Given the description of an element on the screen output the (x, y) to click on. 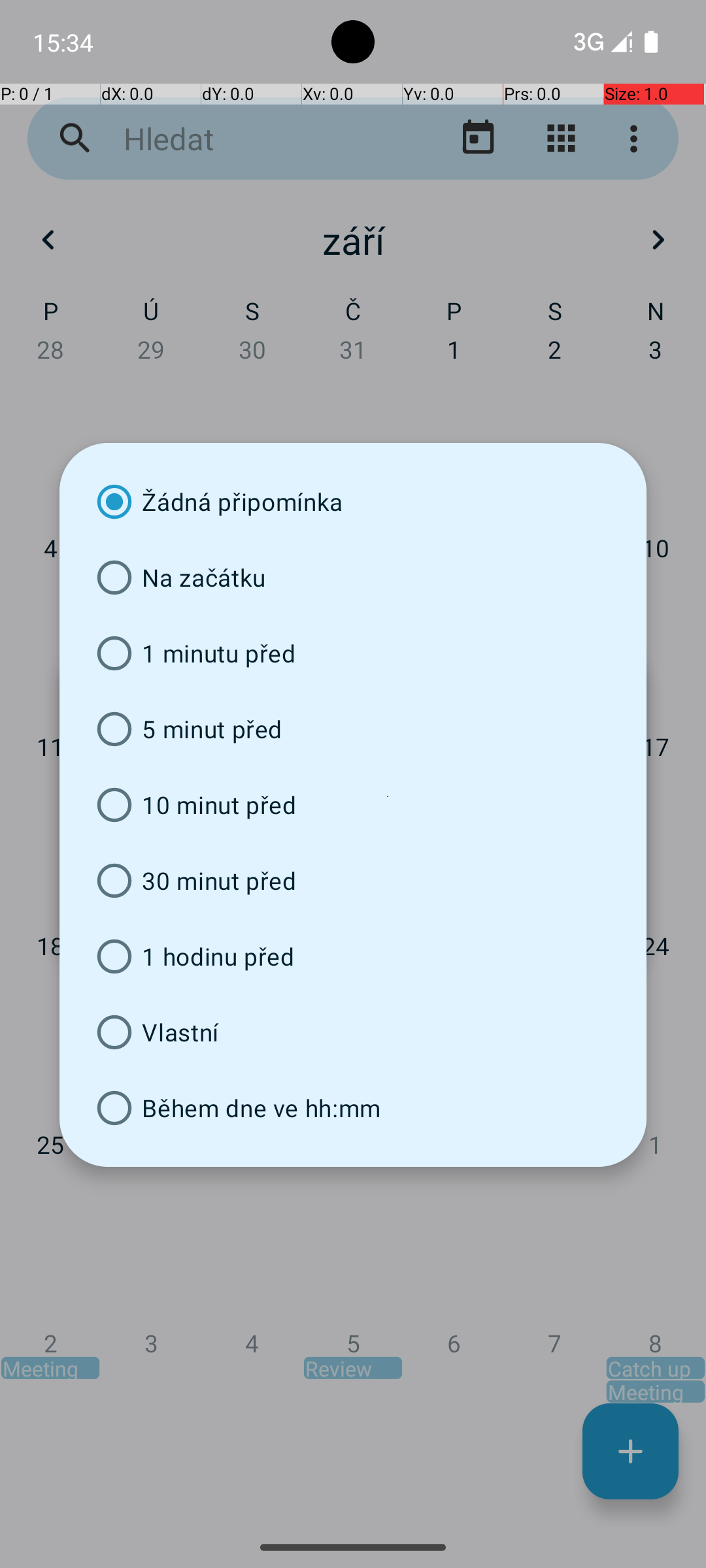
Žádná připomínka Element type: android.widget.RadioButton (352, 501)
Na začátku Element type: android.widget.RadioButton (352, 577)
1 minutu před Element type: android.widget.RadioButton (352, 653)
5 minut před Element type: android.widget.RadioButton (352, 729)
10 minut před Element type: android.widget.RadioButton (352, 804)
30 minut před Element type: android.widget.RadioButton (352, 880)
1 hodinu před Element type: android.widget.RadioButton (352, 956)
Vlastní Element type: android.widget.RadioButton (352, 1032)
Během dne ve hh:mm Element type: android.widget.RadioButton (352, 1107)
